Given the description of an element on the screen output the (x, y) to click on. 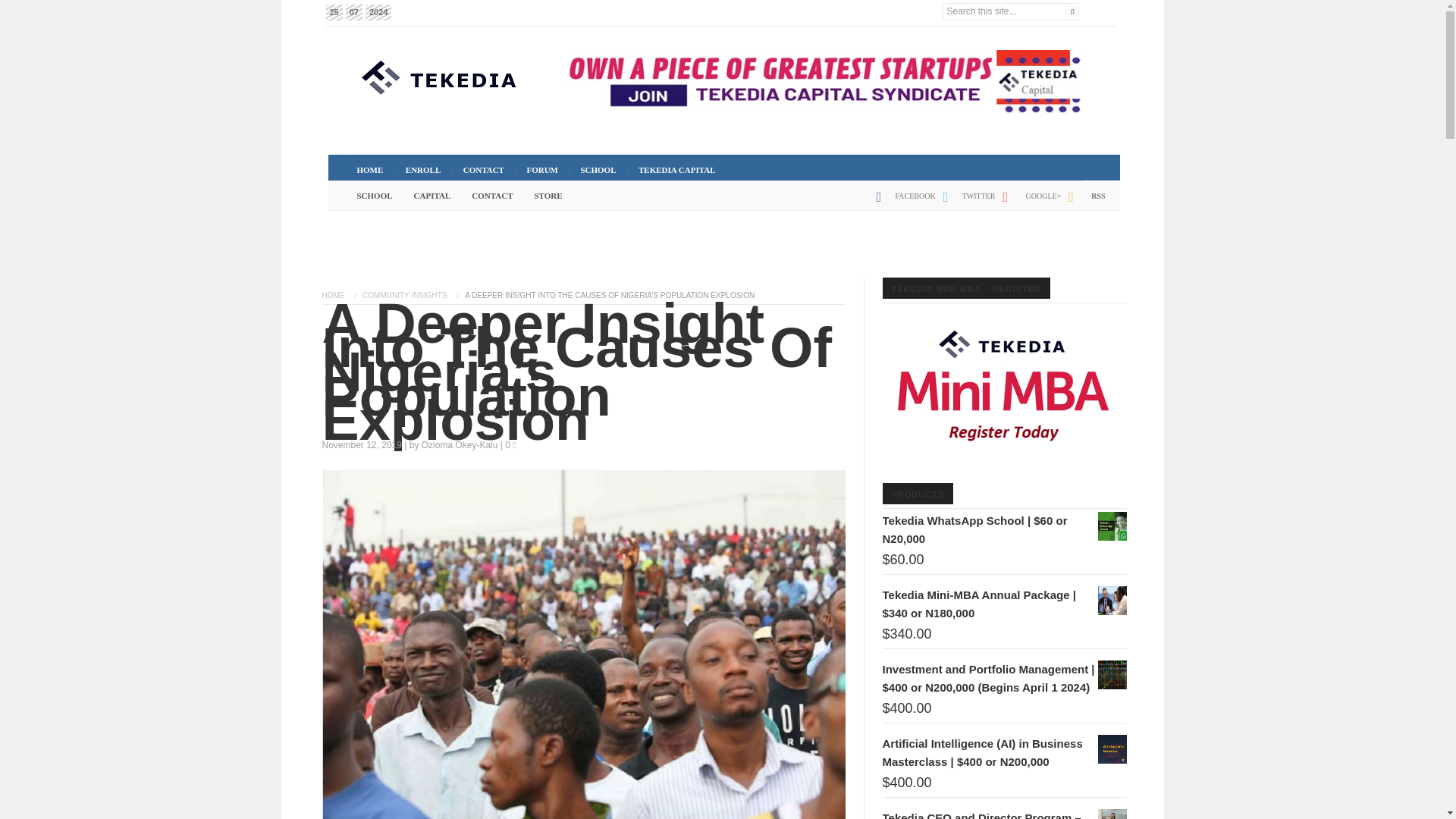
facebook (902, 201)
HOME (369, 169)
rss (1083, 201)
ENROLL (422, 169)
CONTACT (483, 169)
twitter (965, 201)
google (1028, 201)
FORUM (542, 169)
